Given the description of an element on the screen output the (x, y) to click on. 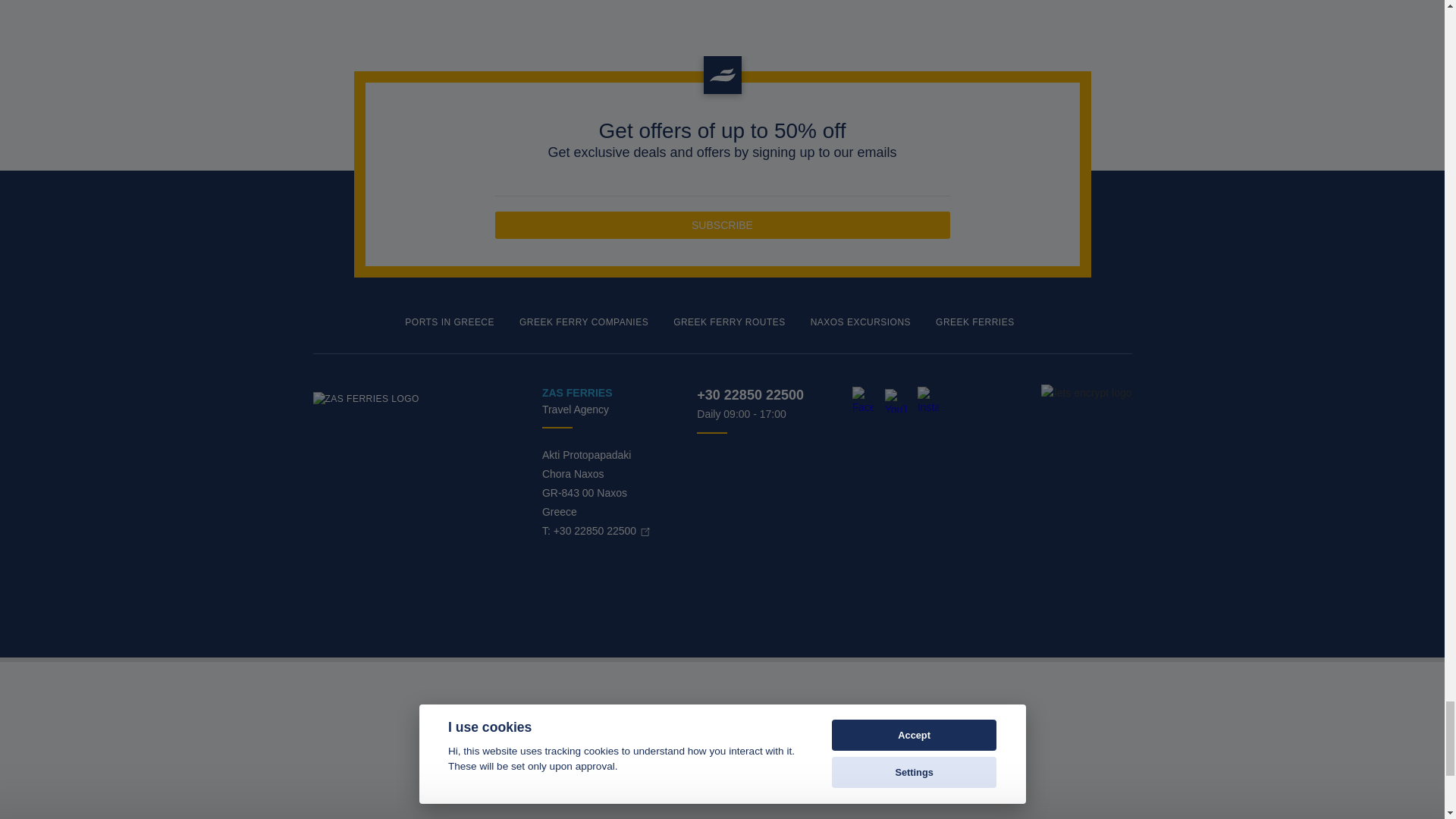
Subscribe (722, 225)
